Given the description of an element on the screen output the (x, y) to click on. 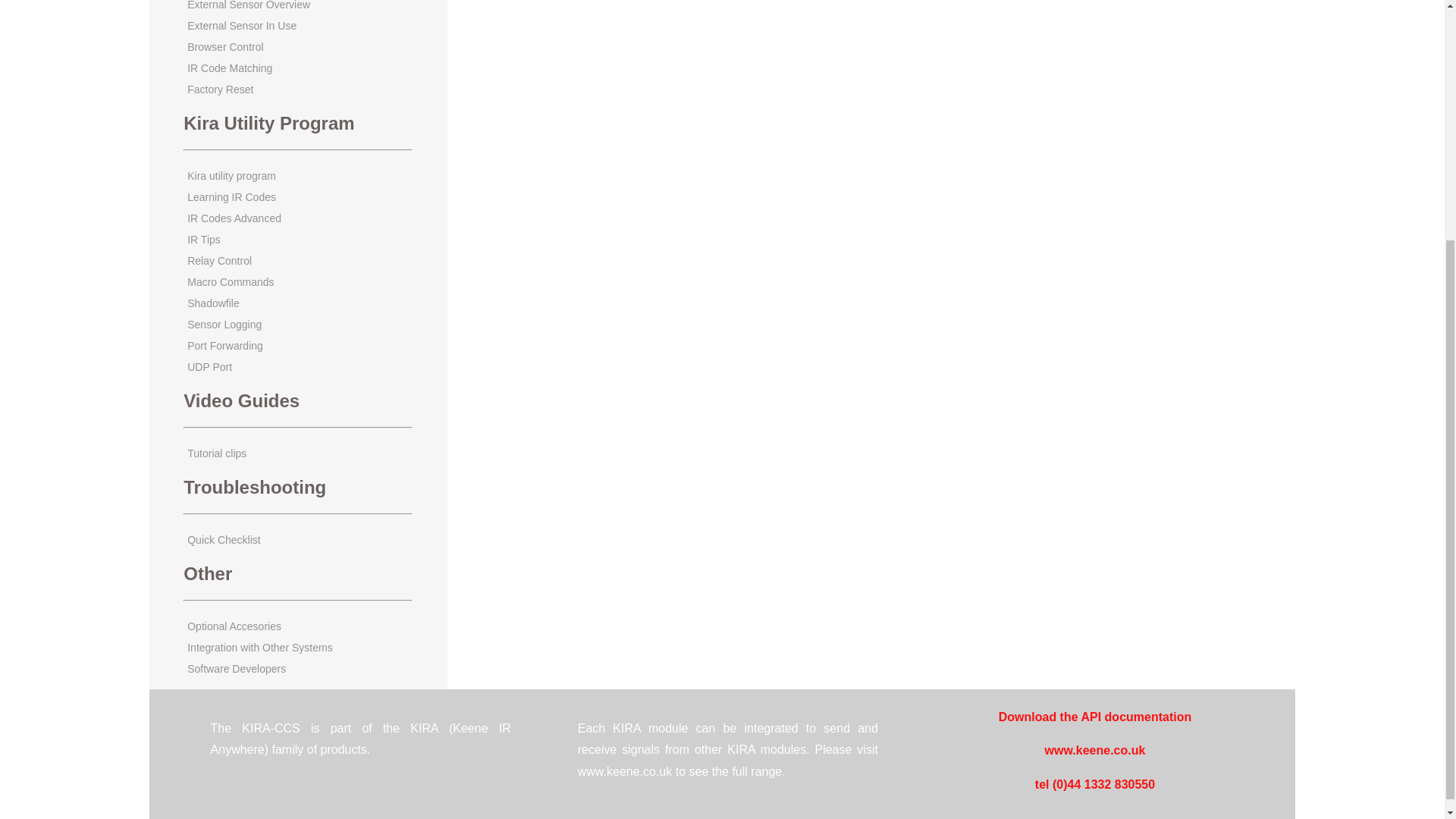
Link (234, 218)
Link (220, 89)
IR Tips (204, 239)
Link (231, 196)
Link (242, 25)
Factory Reset (220, 89)
Sensor Logging (224, 324)
Link (248, 5)
Link (225, 345)
Integration with Other Systems (259, 647)
Link (229, 68)
www.keene.co.uk (1094, 751)
IR Codes Advanced (234, 218)
Software Developers (236, 668)
Link (216, 453)
